Given the description of an element on the screen output the (x, y) to click on. 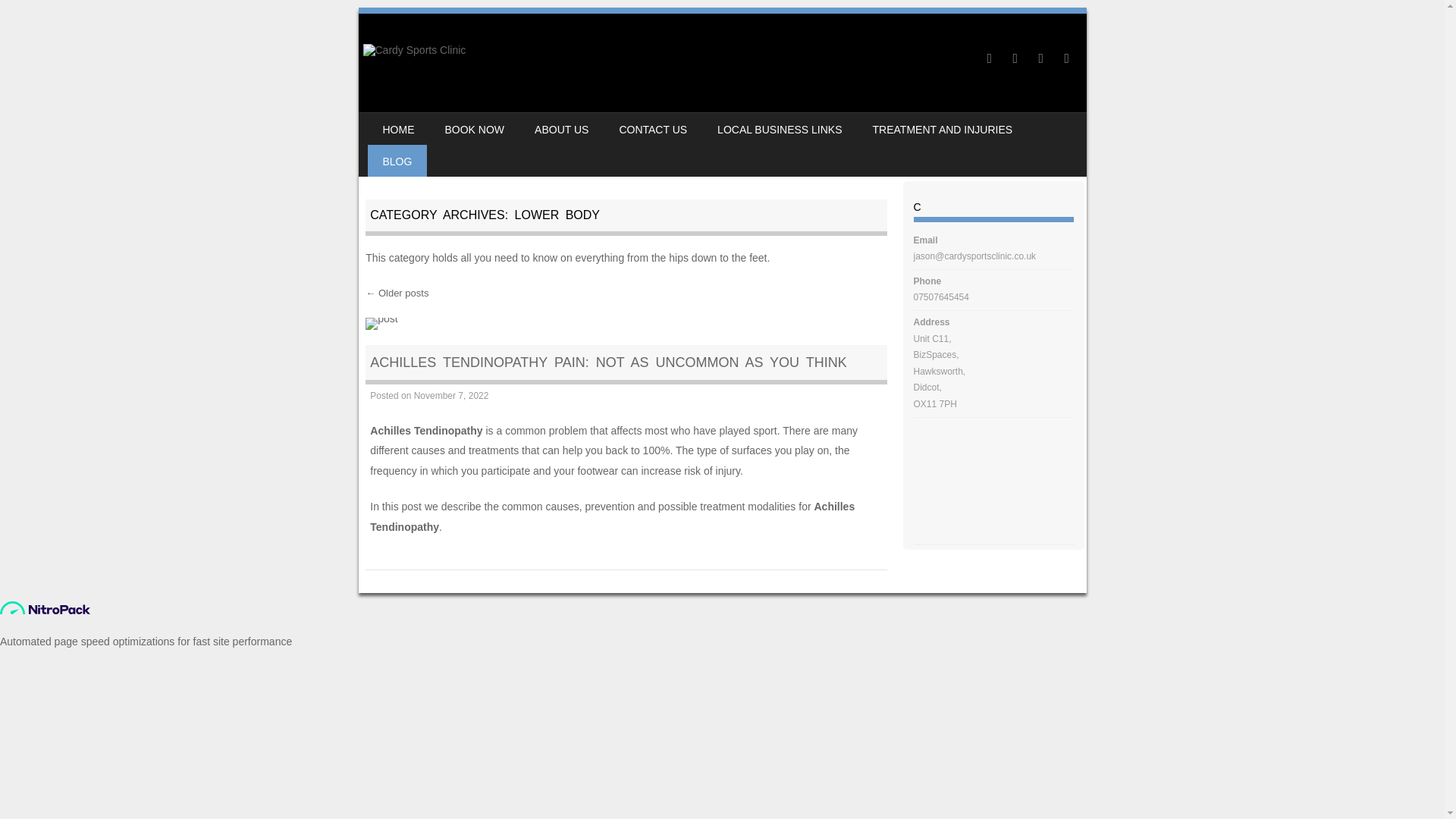
November 7, 2022 (451, 395)
HOME (397, 128)
6:07 pm (451, 395)
ACHILLES TENDINOPATHY PAIN: NOT AS UNCOMMON AS YOU THINK (607, 362)
TREATMENT AND INJURIES (942, 128)
CONTACT US (652, 128)
ABOUT US (561, 128)
Cardy Sports Clinic (413, 50)
Skip to content (405, 122)
SKIP TO CONTENT (405, 122)
BOOK NOW (474, 128)
BLOG (396, 160)
LOCAL BUSINESS LINKS (779, 128)
